Given the description of an element on the screen output the (x, y) to click on. 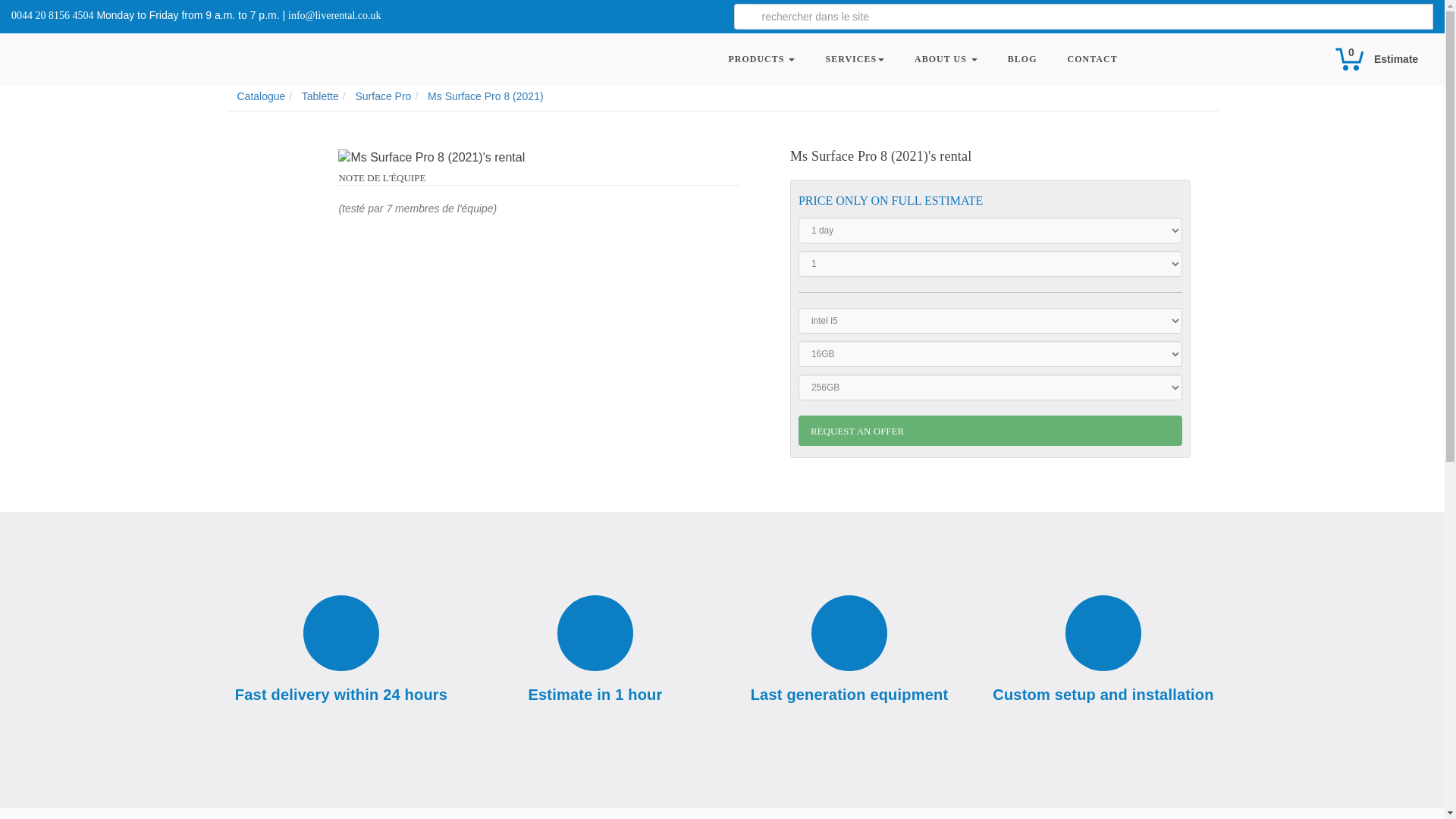
Choose quantity (989, 263)
0044 20 8156 4504 (52, 15)
PRODUCTS (761, 59)
SERVICES (854, 59)
